Given the description of an element on the screen output the (x, y) to click on. 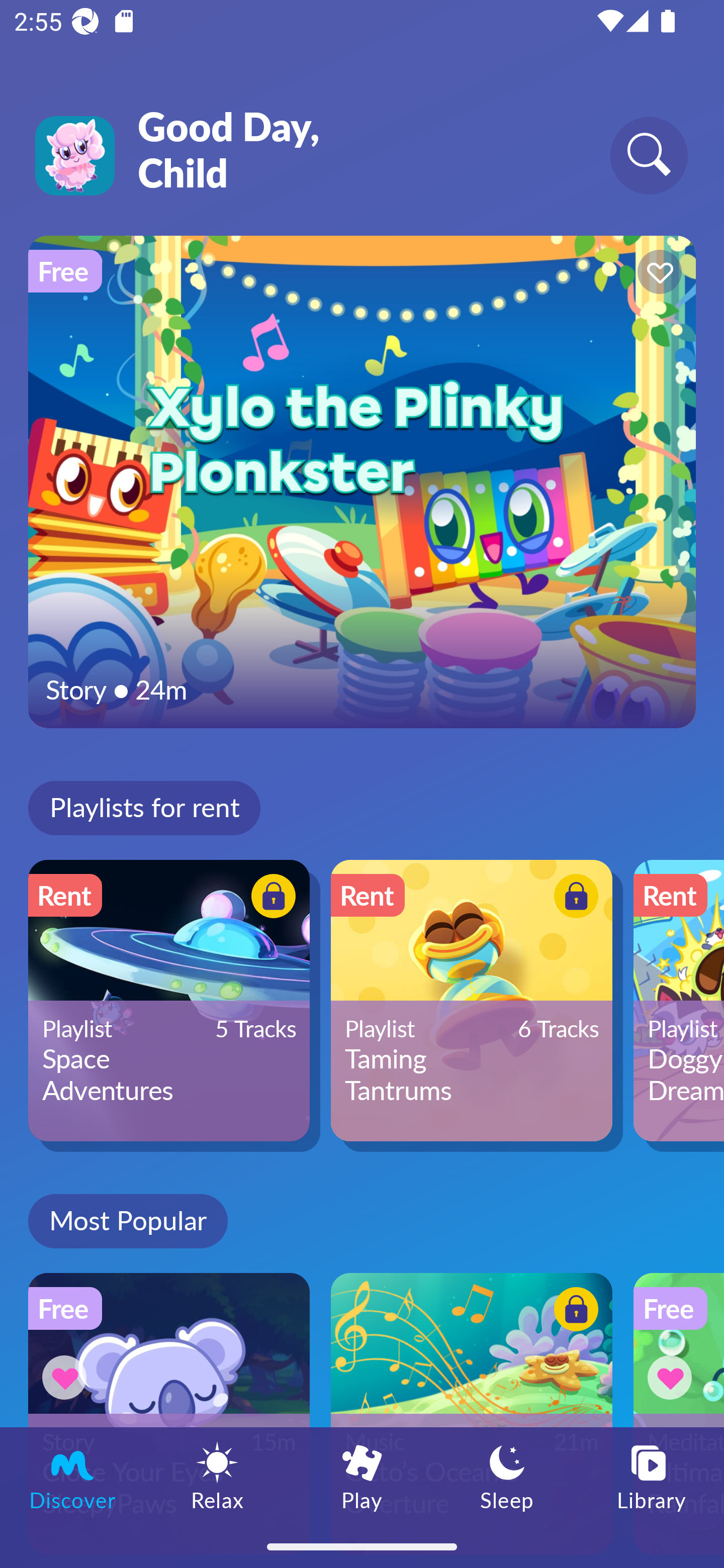
Search (648, 154)
Featured Content Free Button Story ● 24m (361, 481)
Button (656, 274)
Button (269, 898)
Button (573, 898)
Button (573, 1312)
Button (67, 1377)
Button (672, 1377)
Relax (216, 1475)
Play (361, 1475)
Sleep (506, 1475)
Library (651, 1475)
